Given the description of an element on the screen output the (x, y) to click on. 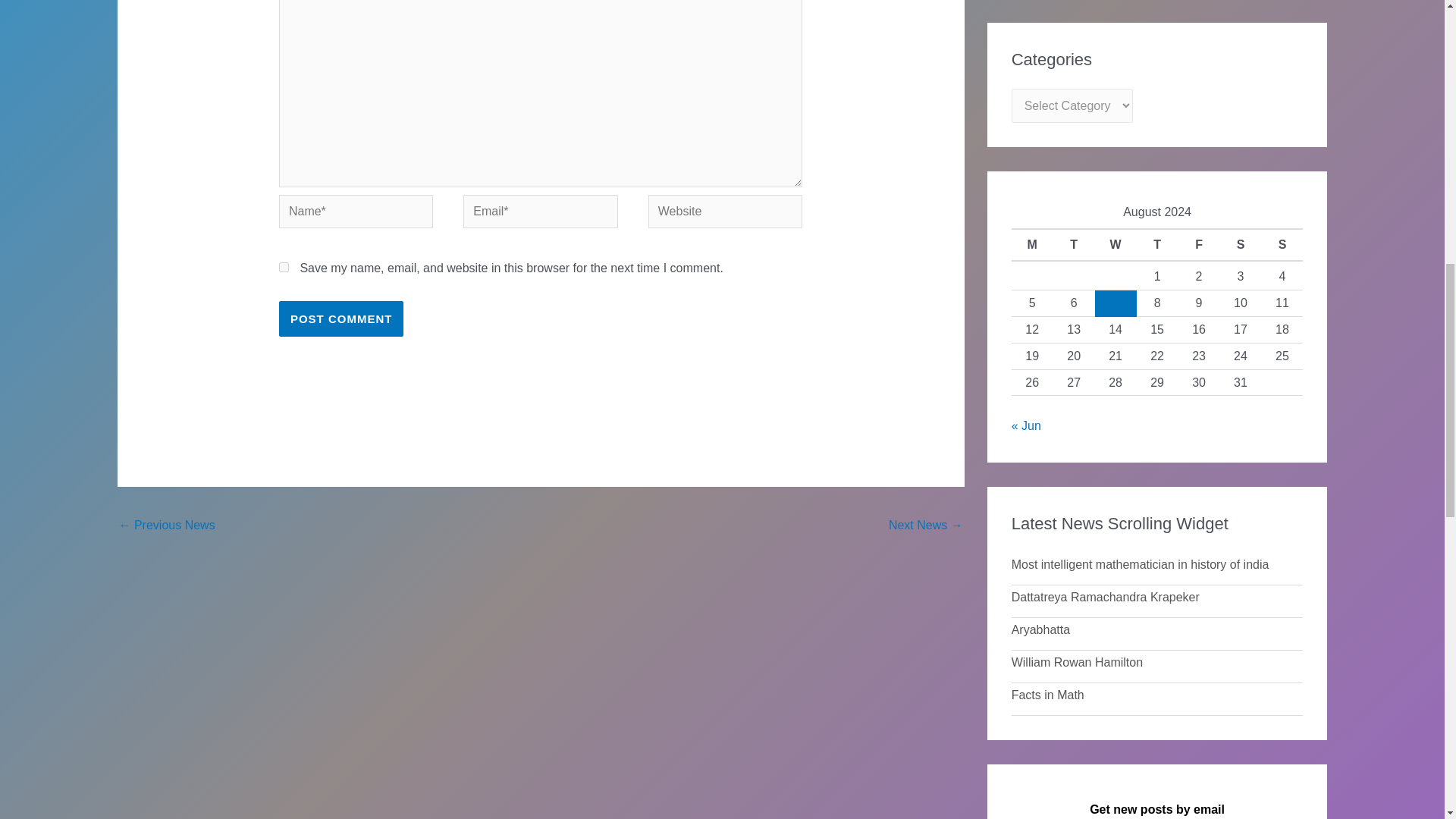
Sunday (1282, 244)
Friday (1198, 244)
Thursday (1157, 244)
yes (283, 266)
Tuesday (1073, 244)
Wednesday (1115, 244)
Facts in Math (165, 526)
Saturday (1241, 244)
Aryabhatta (925, 526)
Post Comment (341, 319)
Monday (1031, 244)
